Given the description of an element on the screen output the (x, y) to click on. 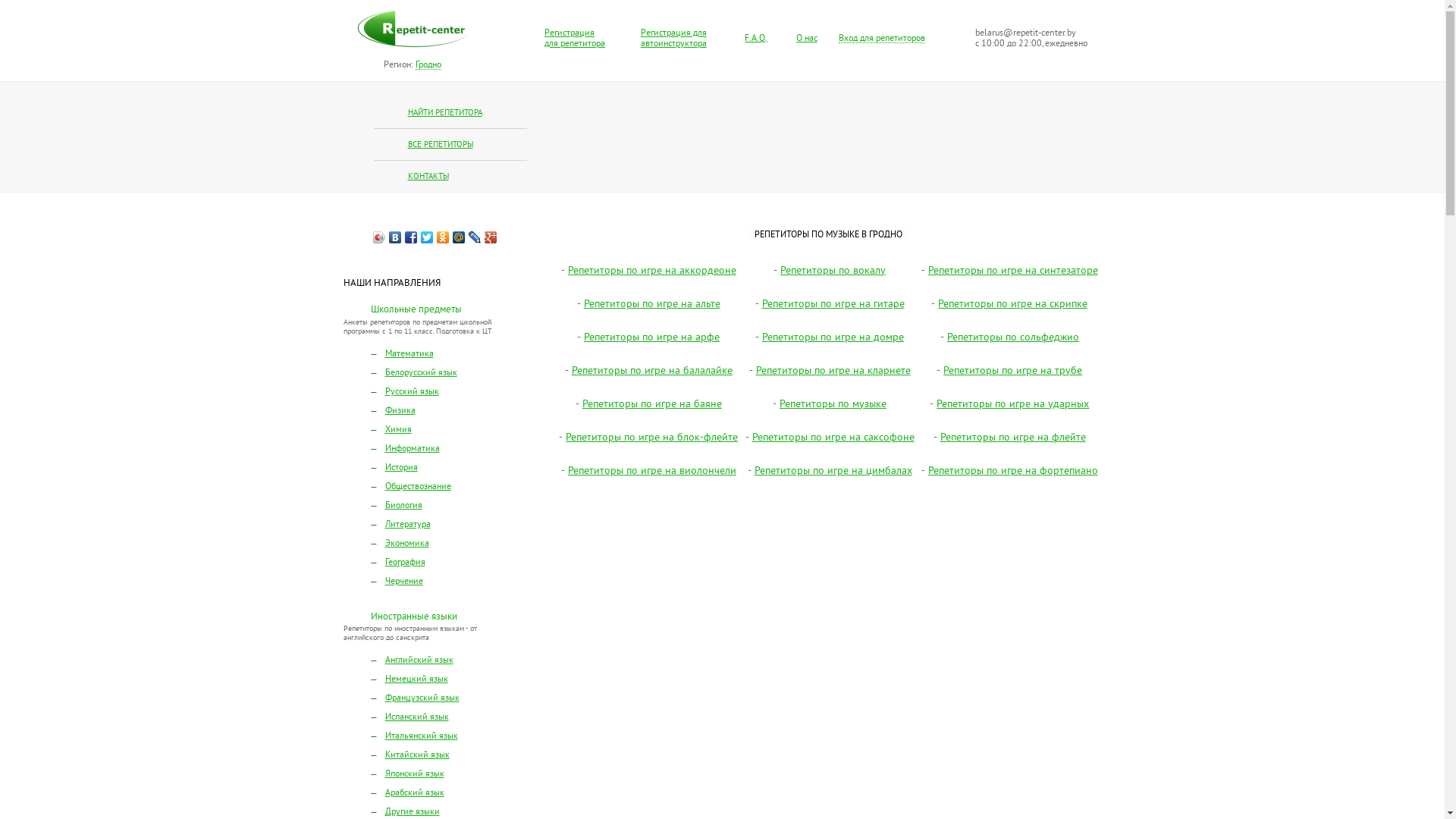
Twitter Element type: hover (427, 237)
LiveJournal Element type: hover (475, 237)
F.A.Q. Element type: text (755, 38)
Facebook Element type: hover (411, 237)
Google Plus Element type: hover (490, 237)
